Given the description of an element on the screen output the (x, y) to click on. 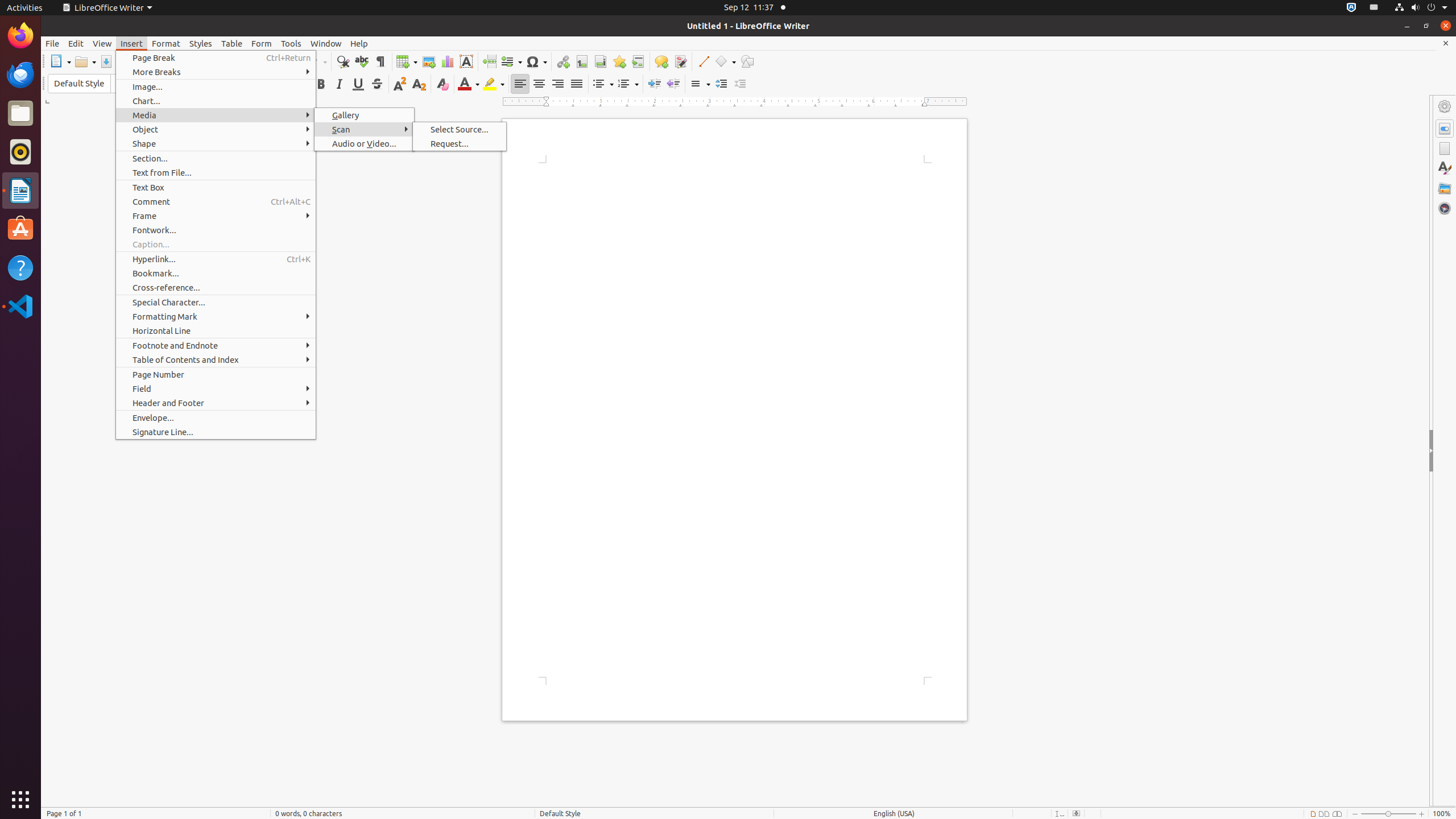
Track Changes Functions Element type: toggle-button (679, 61)
org.kde.StatusNotifierItem-14077-1 Element type: menu (1373, 7)
Numbering Element type: push-button (627, 83)
Hyperlink Element type: toggle-button (562, 61)
Cross-reference... Element type: menu-item (215, 287)
